Given the description of an element on the screen output the (x, y) to click on. 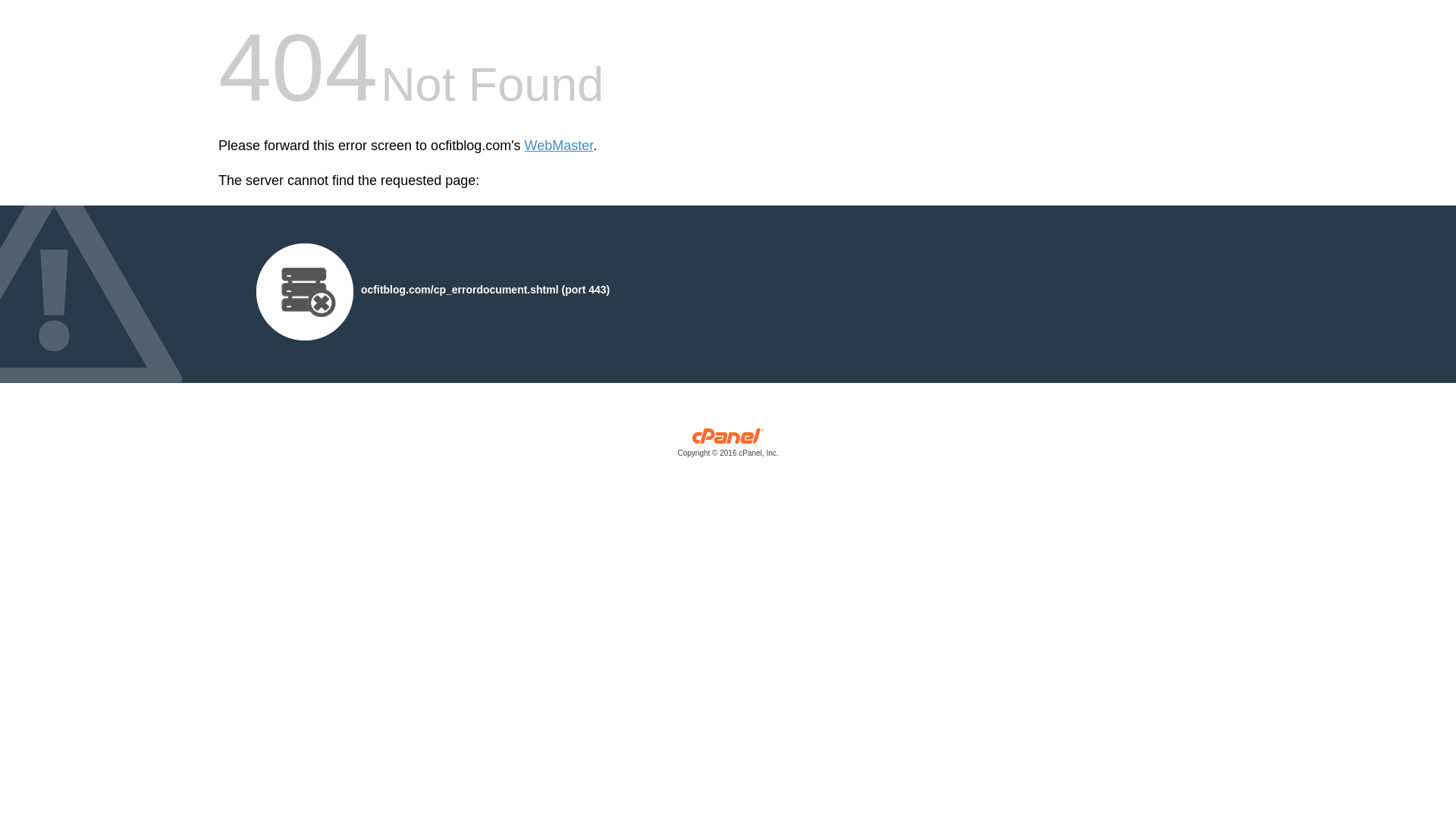
WebMaster (559, 145)
cPanel, Inc. (727, 446)
